Given the description of an element on the screen output the (x, y) to click on. 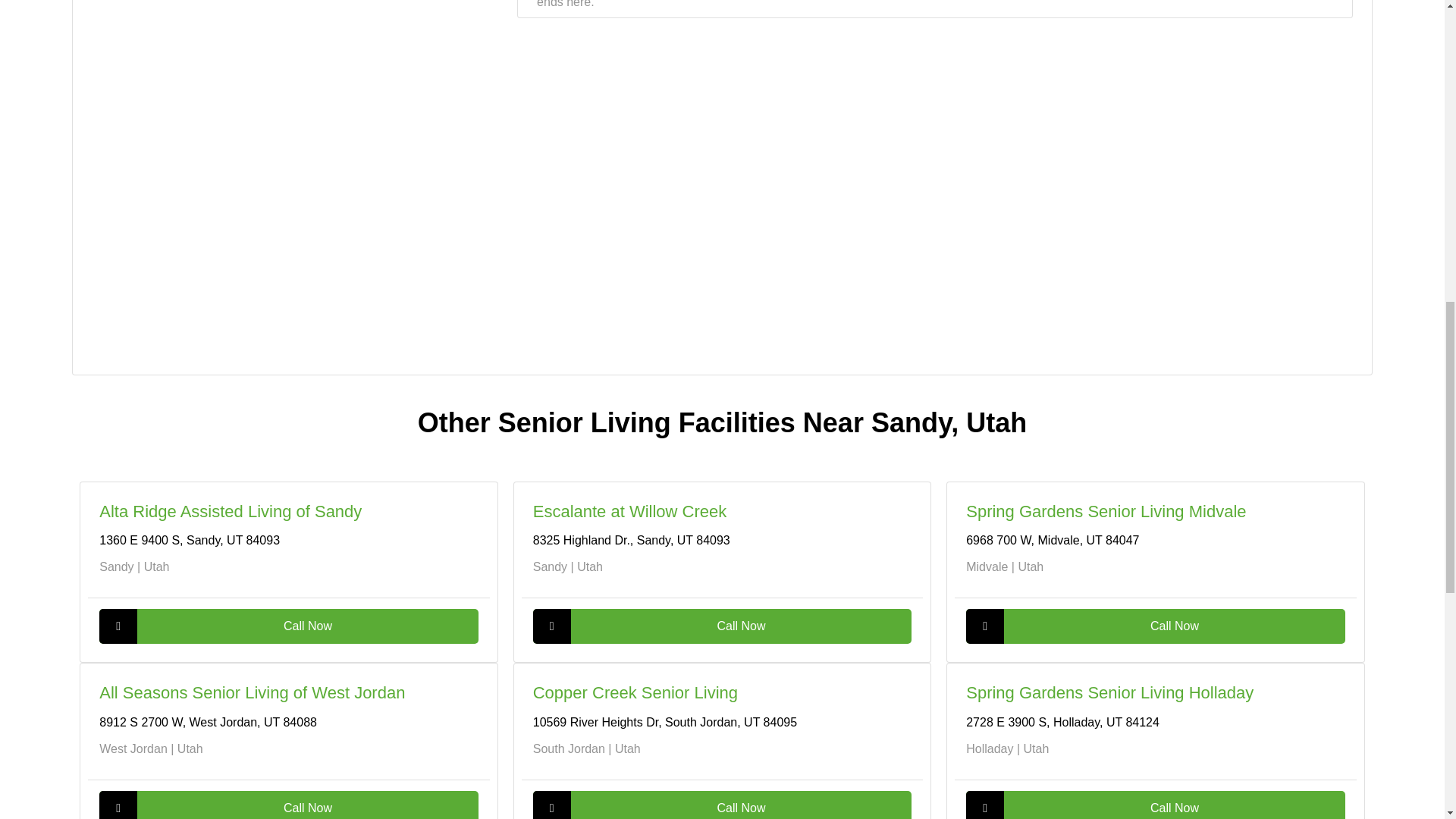
Call Now (1154, 626)
Escalante at Willow Creek (629, 511)
Call Now (721, 804)
Call Now (1154, 804)
Call Now (288, 804)
Call Now (721, 626)
Copper Creek Senior Living (635, 692)
All Seasons Senior Living of West Jordan (251, 692)
Spring Gardens Senior Living Midvale (1106, 511)
Spring Gardens Senior Living Holladay (1109, 692)
